Given the description of an element on the screen output the (x, y) to click on. 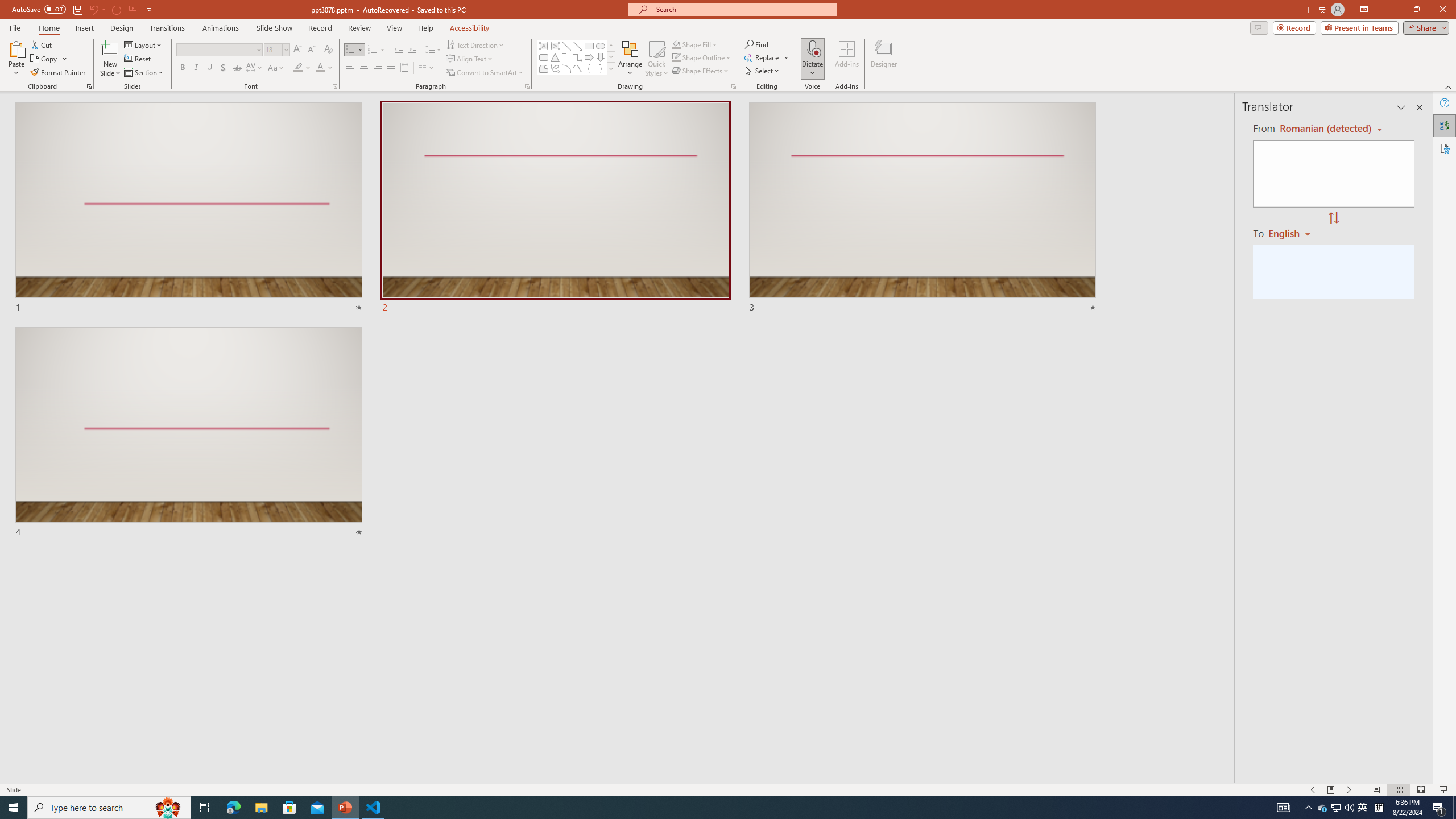
Shape Outline (701, 56)
Copy (49, 58)
Arrange (630, 58)
Clear Formatting (327, 49)
Class: NetUIImage (610, 68)
Convert to SmartArt (485, 72)
Arc (566, 68)
Shapes (611, 68)
Shadow (223, 67)
More Options (812, 68)
Shape Effects (700, 69)
Align Text (470, 58)
Text Direction (476, 44)
Slide (189, 431)
